Given the description of an element on the screen output the (x, y) to click on. 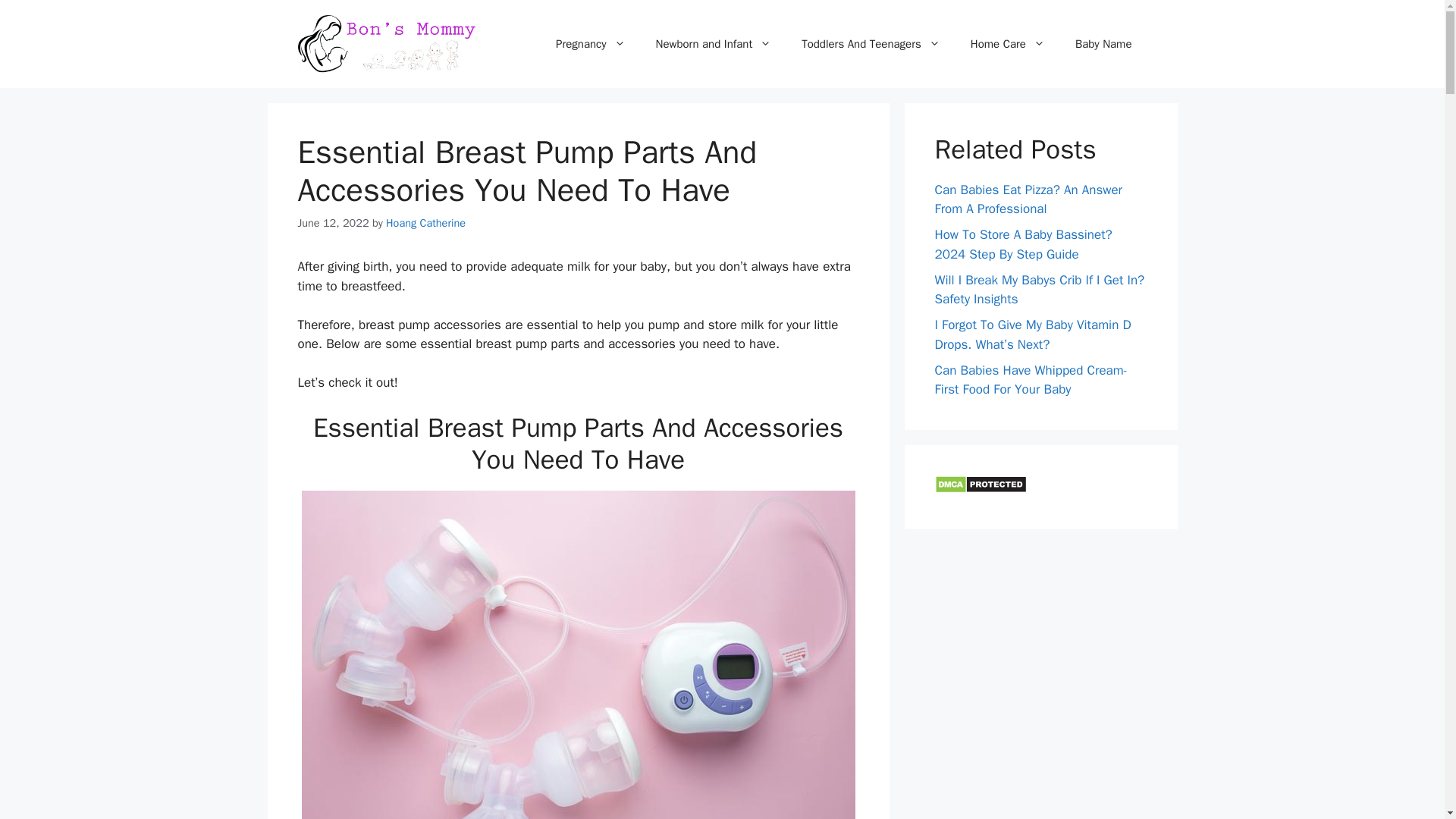
Hoang Catherine (425, 223)
Home Care (1007, 43)
Can Babies Have Whipped Cream- First Food For Your Baby (1030, 380)
Newborn and Infant (713, 43)
Toddlers And Teenagers (870, 43)
How To Store A Baby Bassinet? 2024 Step By Step Guide (1023, 244)
Baby Name (1103, 43)
DMCA.com Protection Status (980, 489)
Will I Break My Babys Crib If I Get In? Safety Insights (1039, 289)
Can Babies Eat Pizza? An Answer From A Professional (1028, 199)
View all posts by Hoang Catherine (425, 223)
Pregnancy (590, 43)
